Given the description of an element on the screen output the (x, y) to click on. 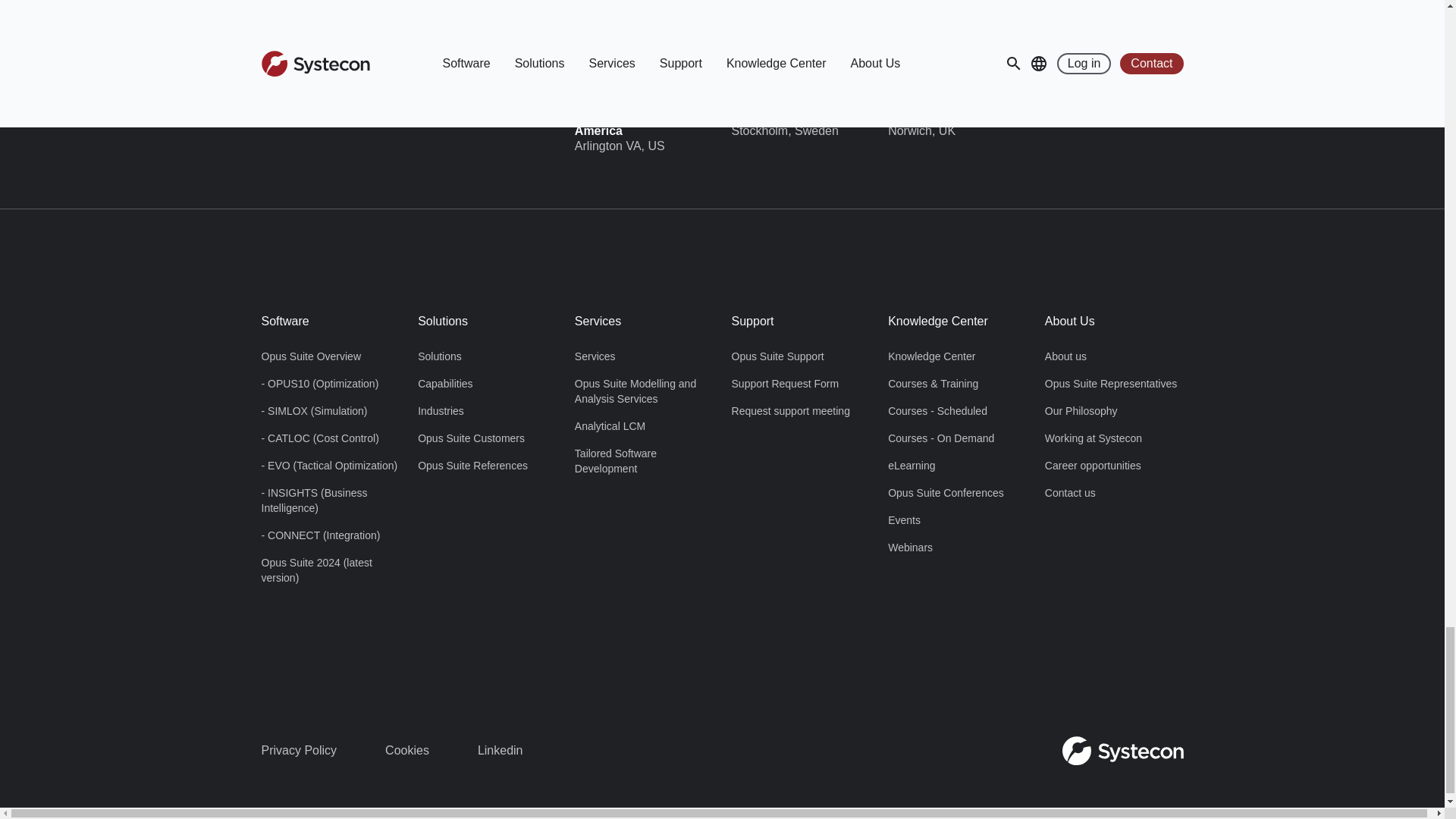
Home (1121, 750)
